Given the description of an element on the screen output the (x, y) to click on. 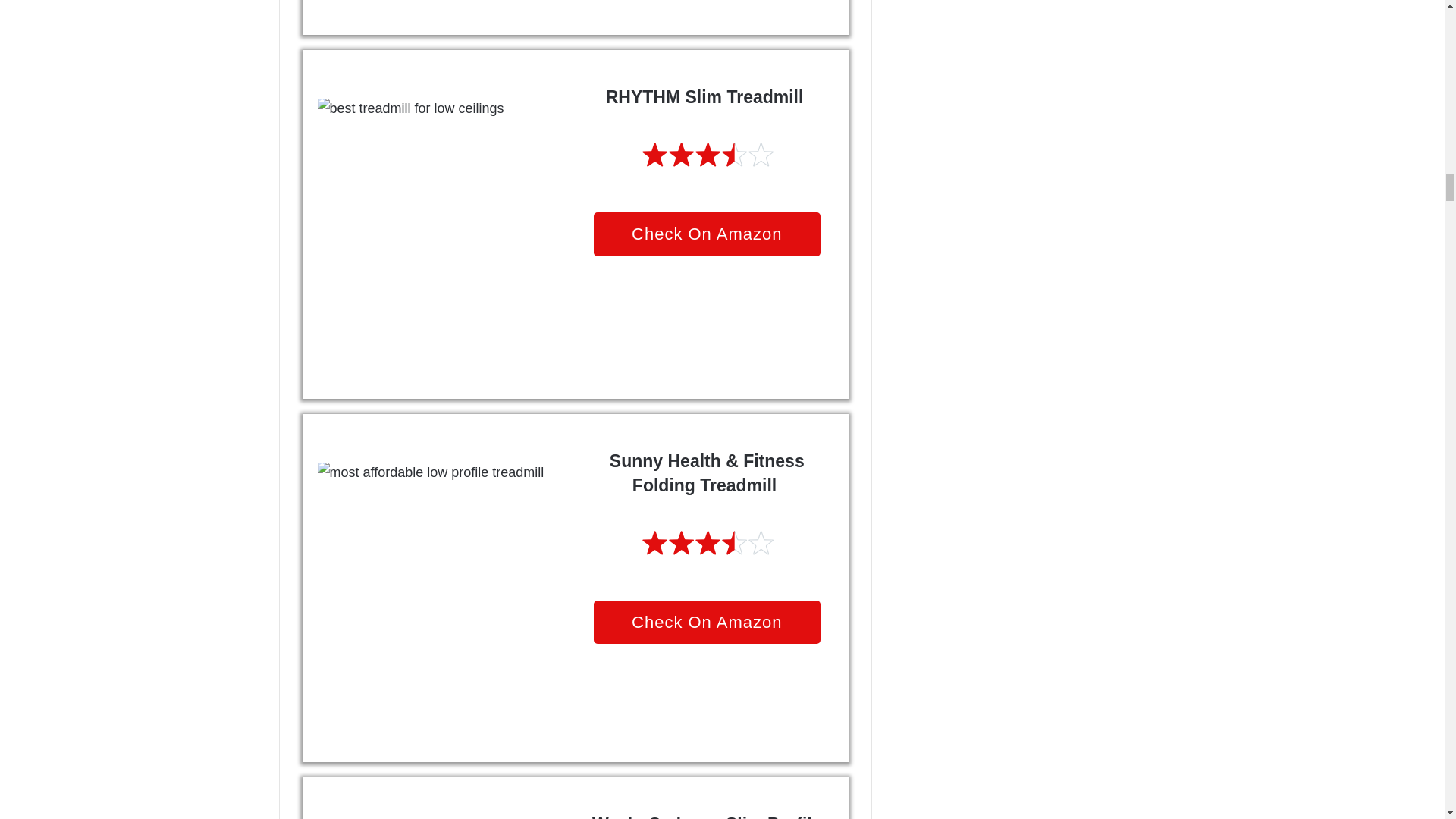
Check On Amazon (707, 622)
best treadmill for low ceilings (443, 223)
Check On Amazon (707, 234)
